Given the description of an element on the screen output the (x, y) to click on. 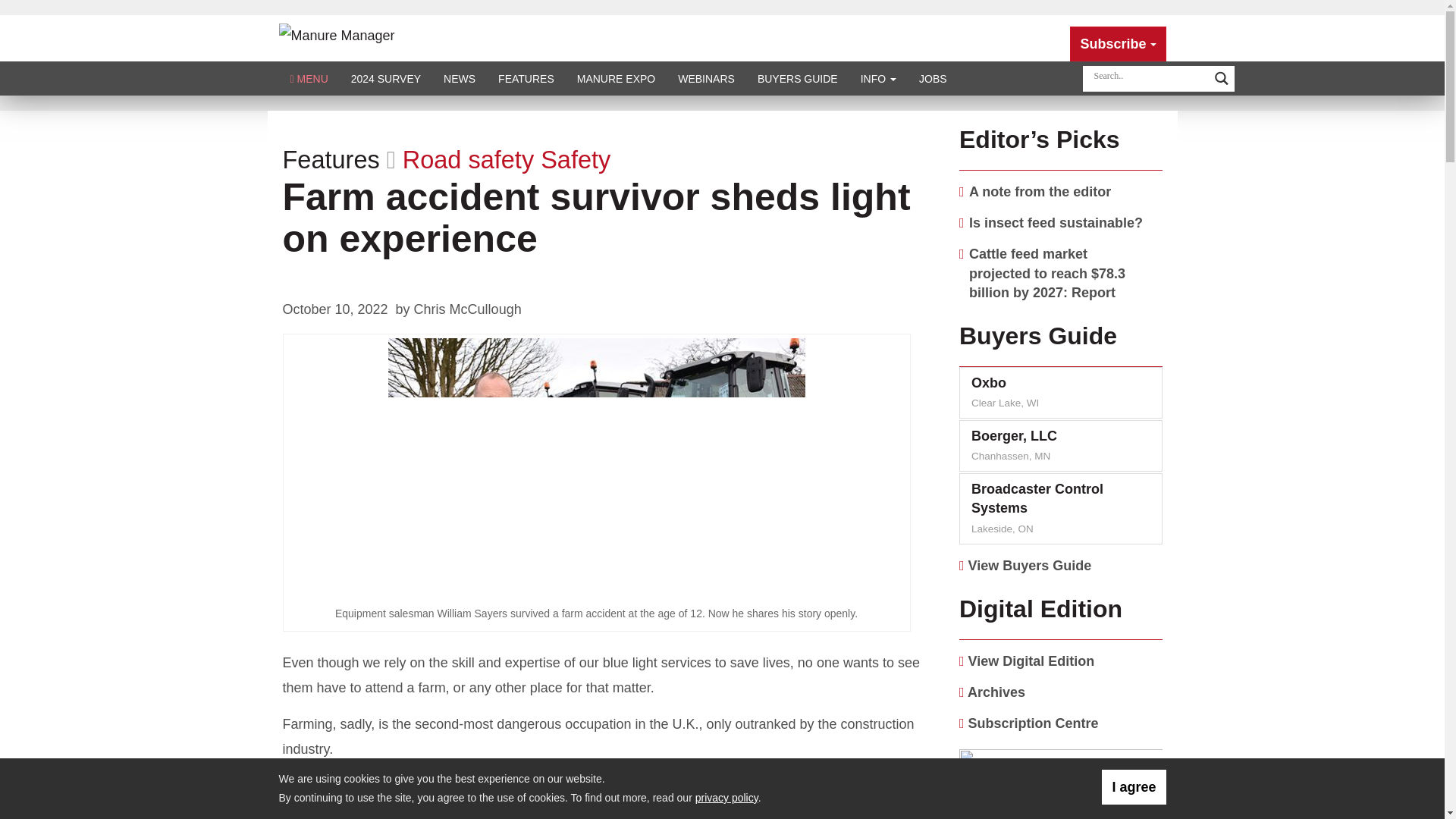
MANURE EXPO (616, 78)
Manure Manager (336, 34)
2024 SURVEY (385, 78)
WEBINARS (705, 78)
MENU (309, 78)
NEWS (459, 78)
Click to show site navigation (309, 78)
Subscribe (1118, 43)
INFO (877, 78)
FEATURES (526, 78)
BUYERS GUIDE (796, 78)
JOBS (932, 78)
